Given the description of an element on the screen output the (x, y) to click on. 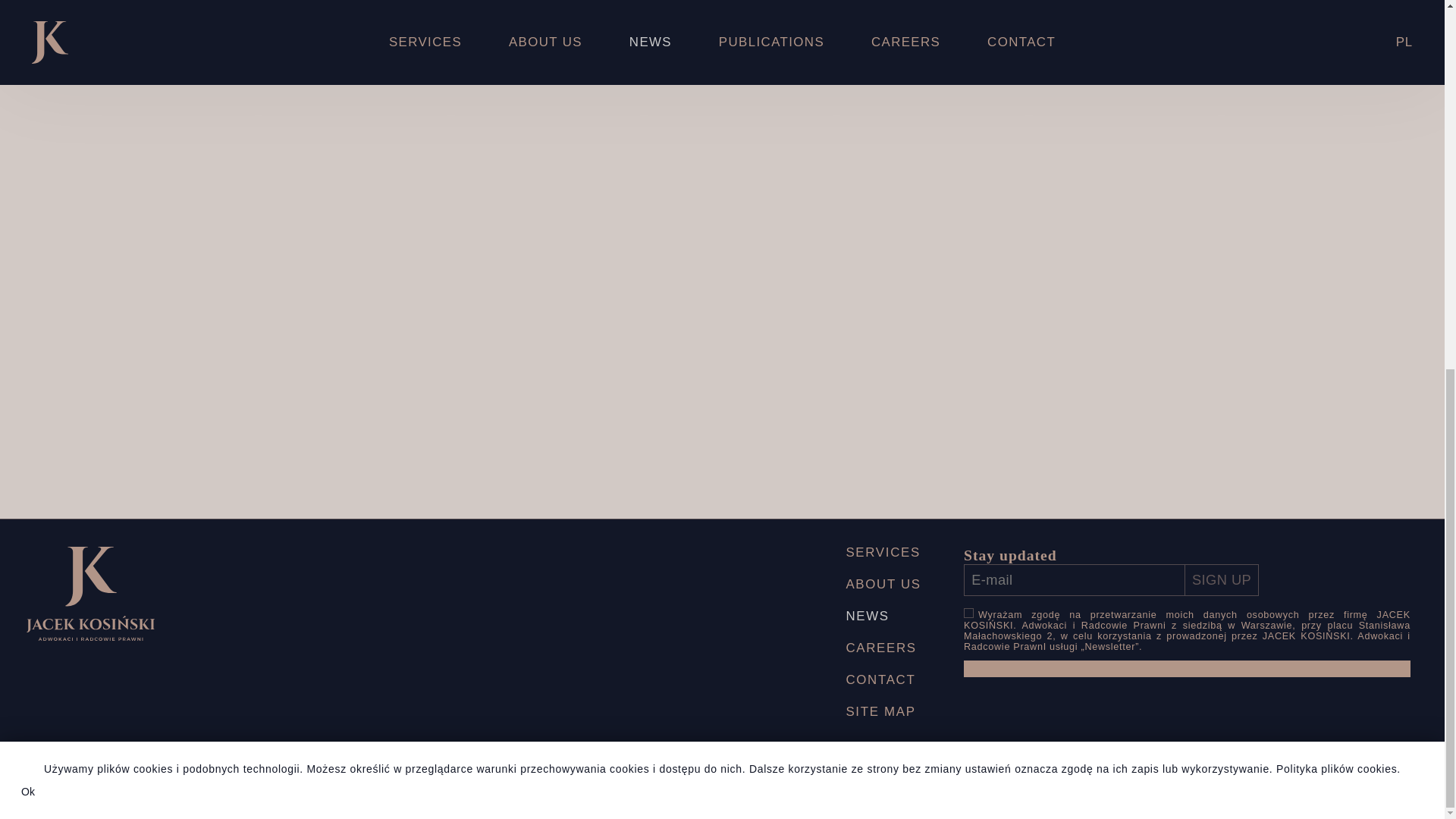
NEWS (882, 616)
SERVICES (882, 553)
1 (968, 613)
SITE MAP (882, 712)
Ok (27, 121)
CAREERS (882, 648)
Sign up (1222, 580)
CONTACT (882, 680)
ABOUT US (882, 584)
Sign up (1222, 580)
